Given the description of an element on the screen output the (x, y) to click on. 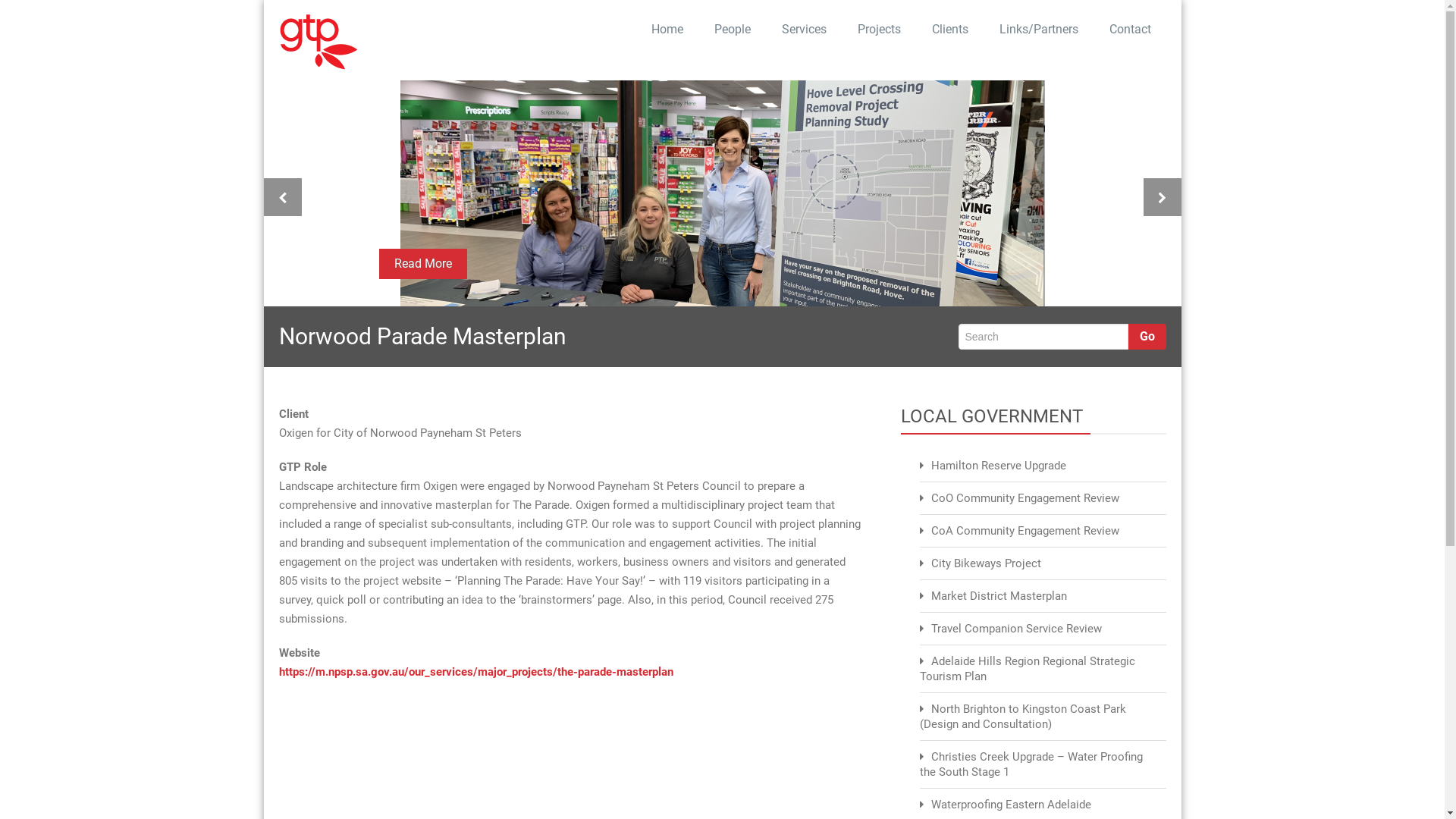
Travel Companion Service Review Element type: text (1016, 628)
Market District Masterplan Element type: text (998, 595)
CoO Community Engagement Review Element type: text (1025, 498)
CoA Community Engagement Review Element type: text (1025, 530)
Waterproofing Eastern Adelaide Element type: text (1011, 804)
Services Element type: text (803, 29)
Go Element type: text (1147, 336)
City Bikeways Project Element type: text (986, 563)
Read More Element type: text (722, 193)
Home Element type: text (666, 29)
Hamilton Reserve Upgrade Element type: text (998, 465)
Adelaide Hills Region Regional Strategic Tourism Plan Element type: text (1026, 668)
Projects Element type: text (878, 29)
People Element type: text (731, 29)
Links/Partners Element type: text (1037, 29)
Contact Element type: text (1129, 29)
Read More Element type: text (423, 263)
Clients Element type: text (949, 29)
